Given the description of an element on the screen output the (x, y) to click on. 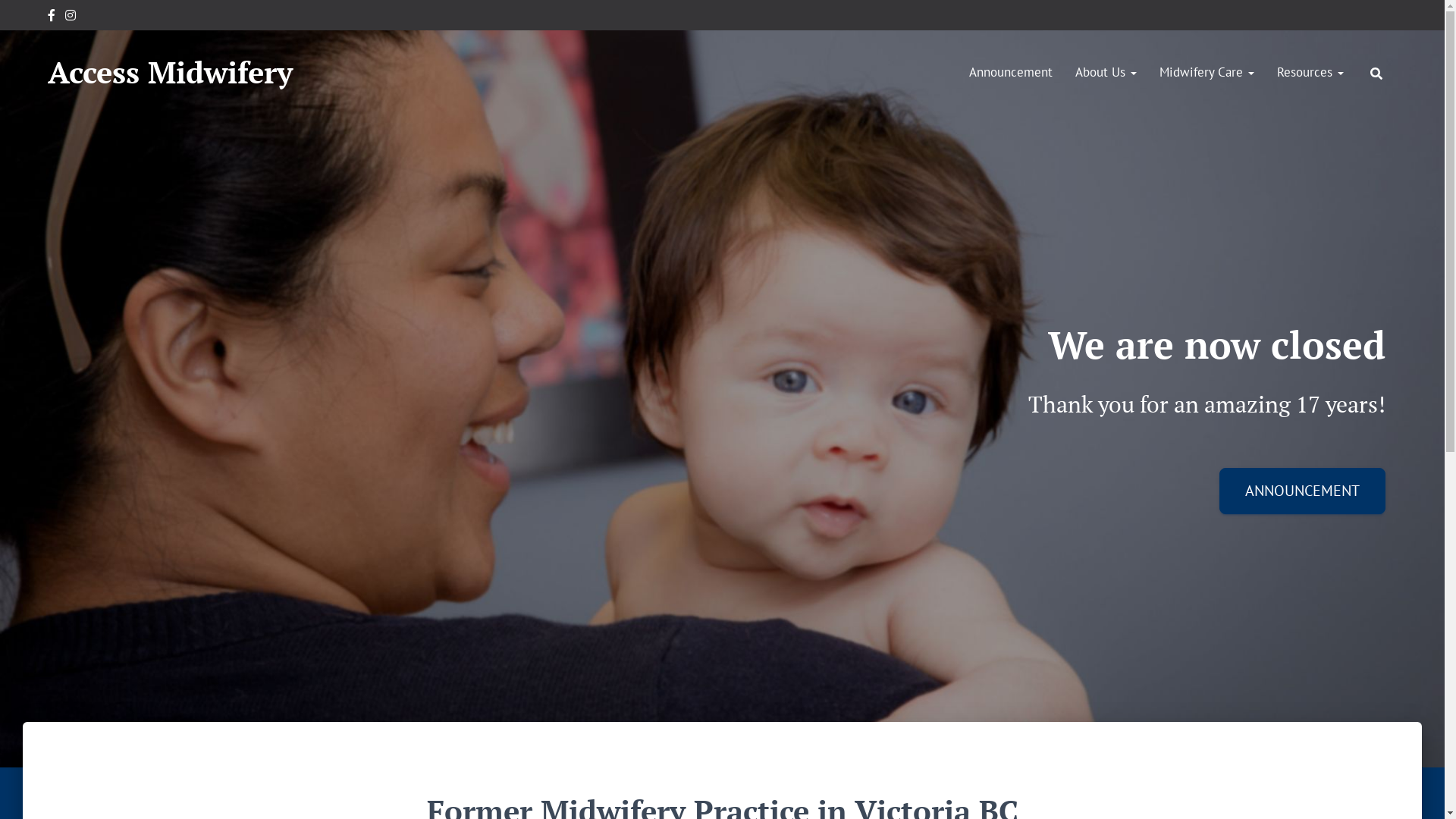
Search Element type: text (17, 16)
Midwifery Care Element type: text (1206, 72)
instagram Element type: text (70, 17)
About Us Element type: text (1105, 72)
Access Midwifery Element type: text (170, 71)
Announcement Element type: text (1010, 72)
Resources Element type: text (1310, 72)
ANNOUNCEMENT Element type: text (1302, 490)
facebook Element type: text (51, 17)
